Given the description of an element on the screen output the (x, y) to click on. 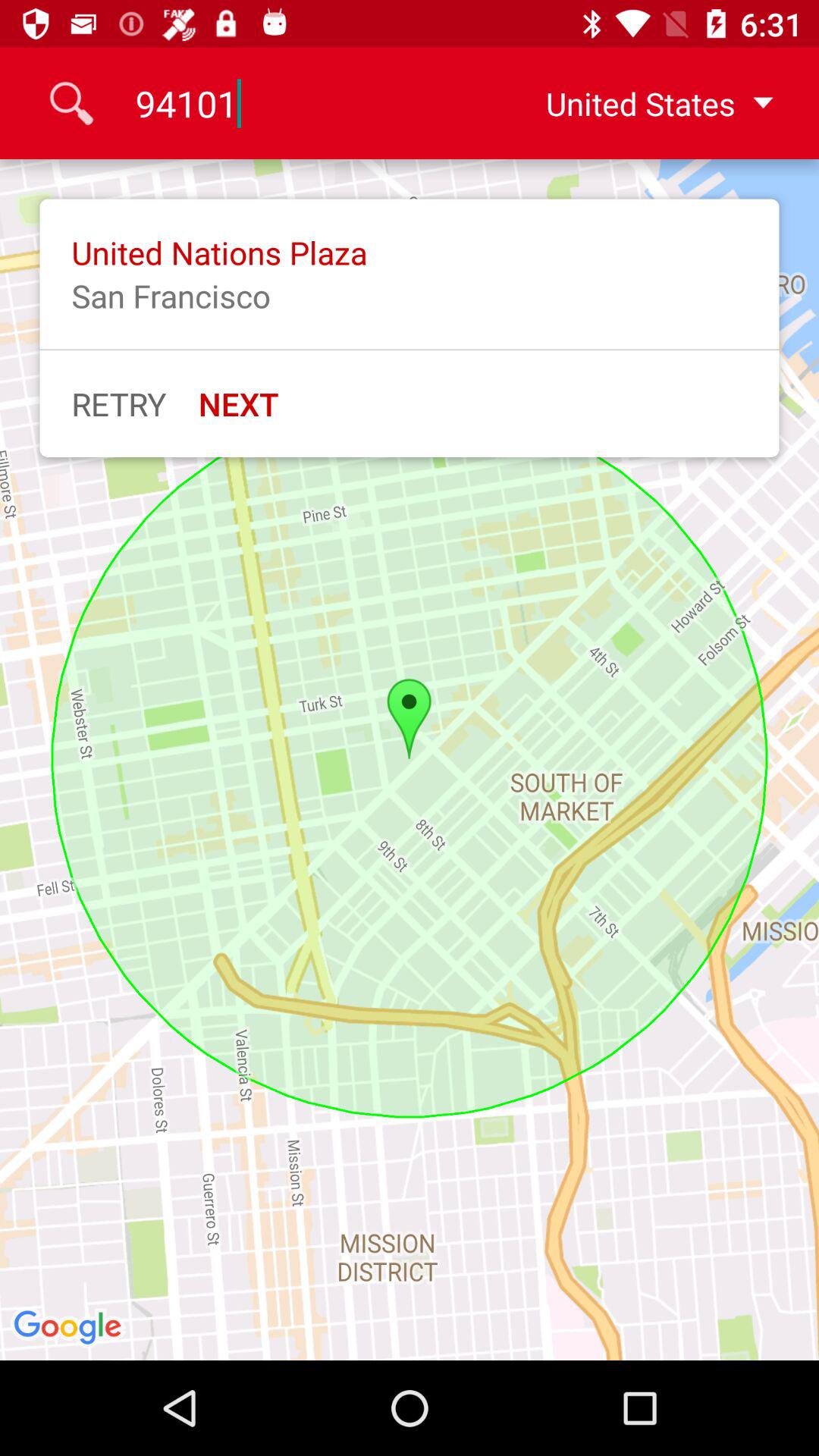
turn on the icon to the left of the united states icon (309, 103)
